Given the description of an element on the screen output the (x, y) to click on. 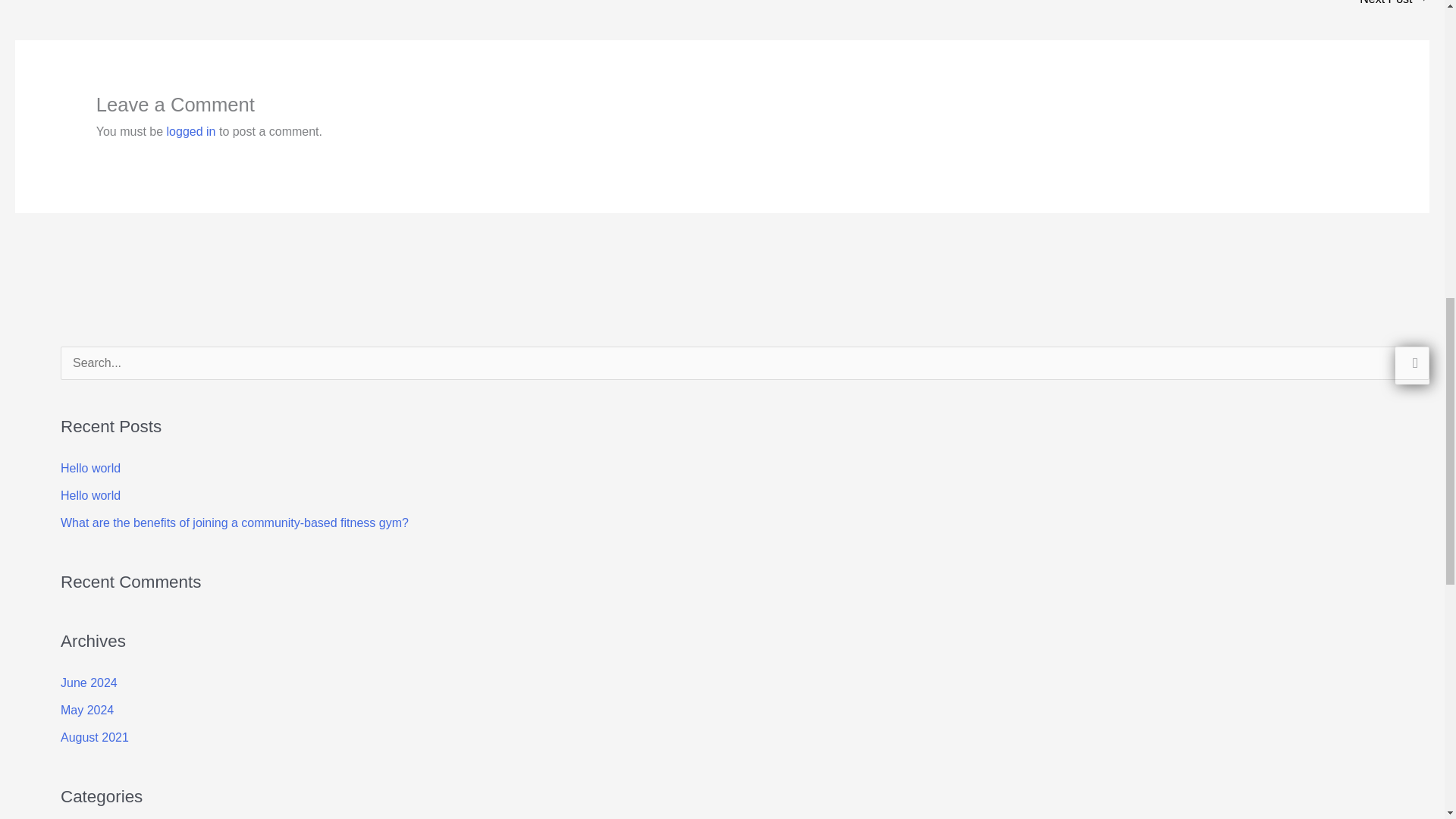
Search (1411, 365)
Hello world (1393, 7)
Search (1411, 365)
